Given the description of an element on the screen output the (x, y) to click on. 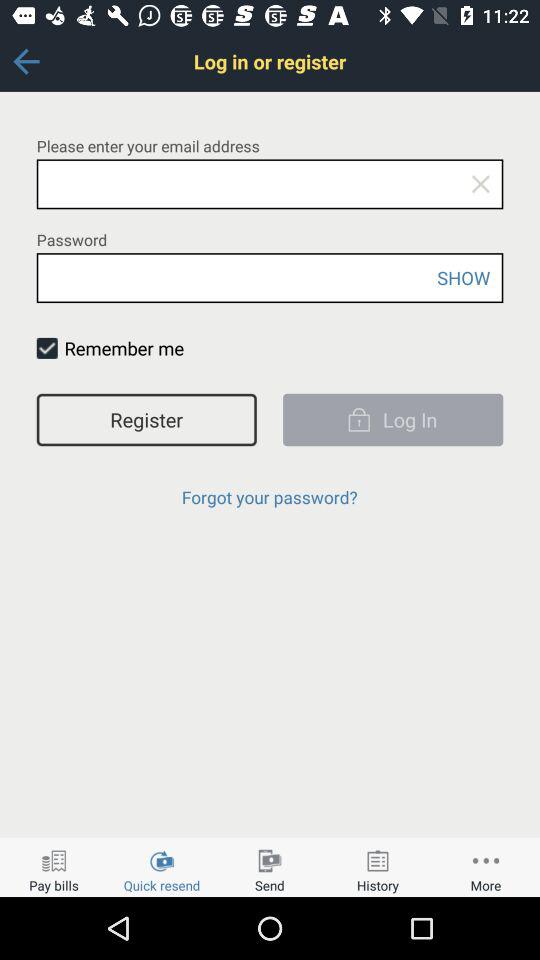
click item to the left of the remember me (46, 347)
